Given the description of an element on the screen output the (x, y) to click on. 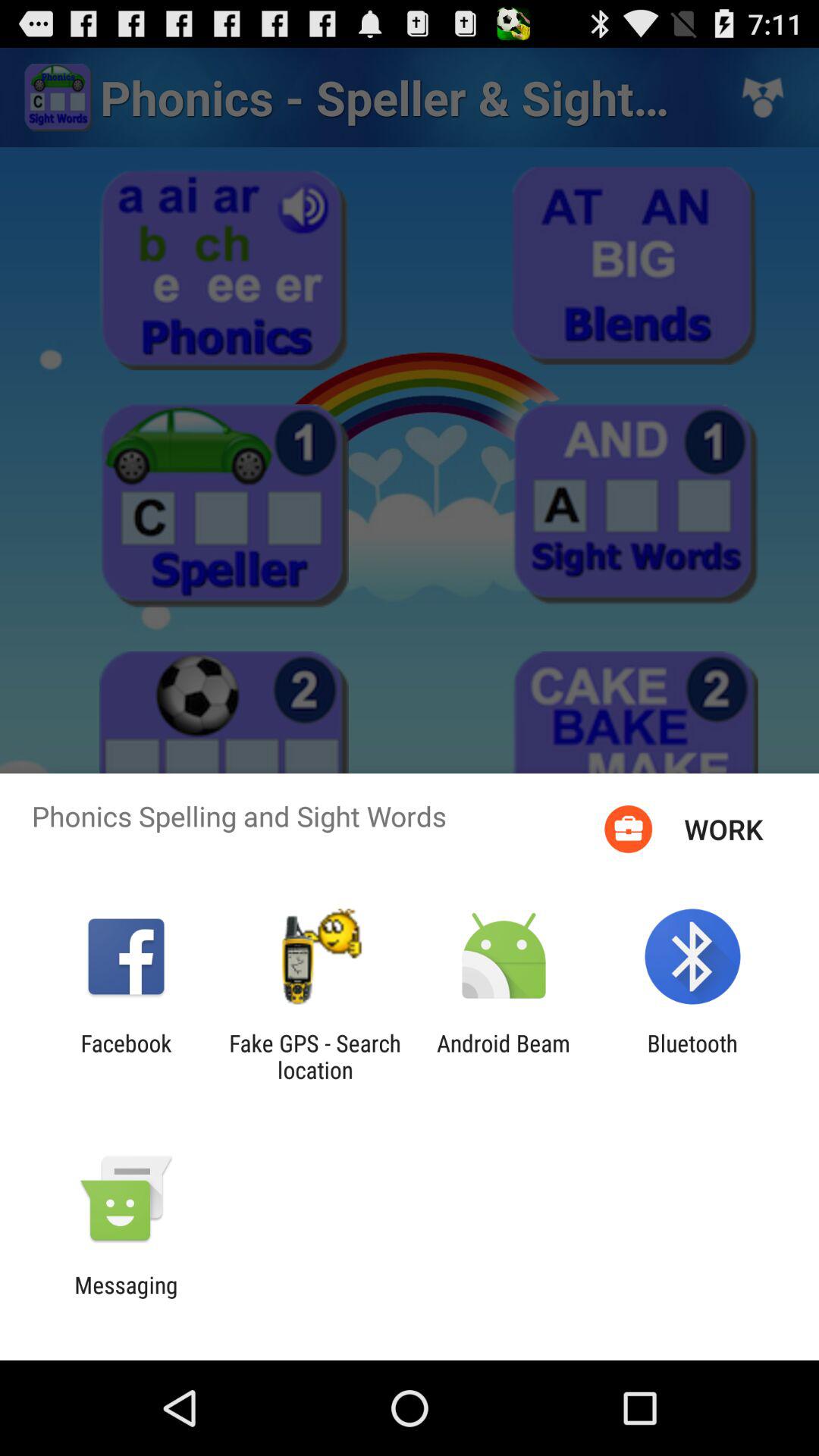
open item next to the facebook app (314, 1056)
